Given the description of an element on the screen output the (x, y) to click on. 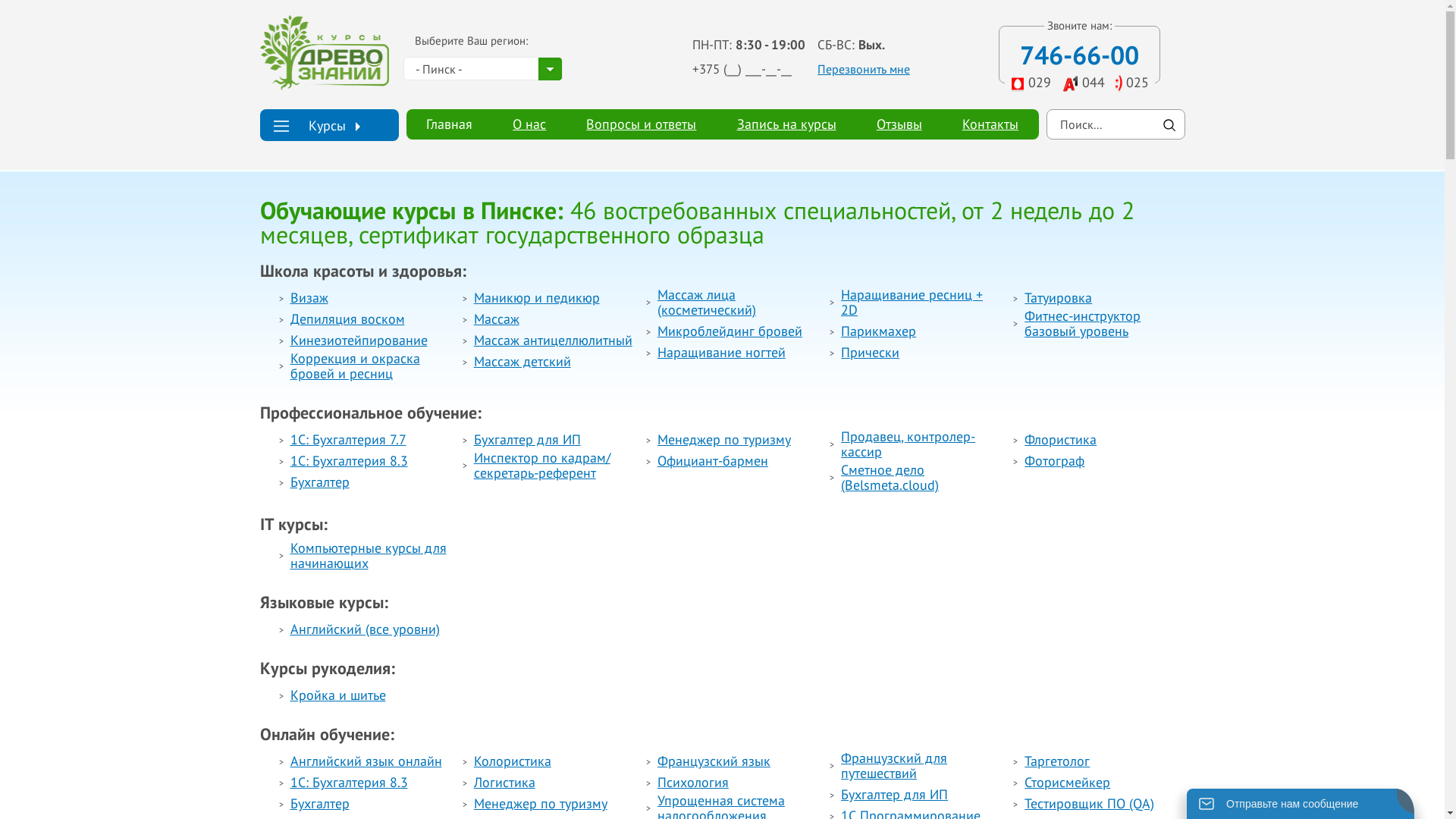
746-66-00 Element type: text (1079, 54)
